Given the description of an element on the screen output the (x, y) to click on. 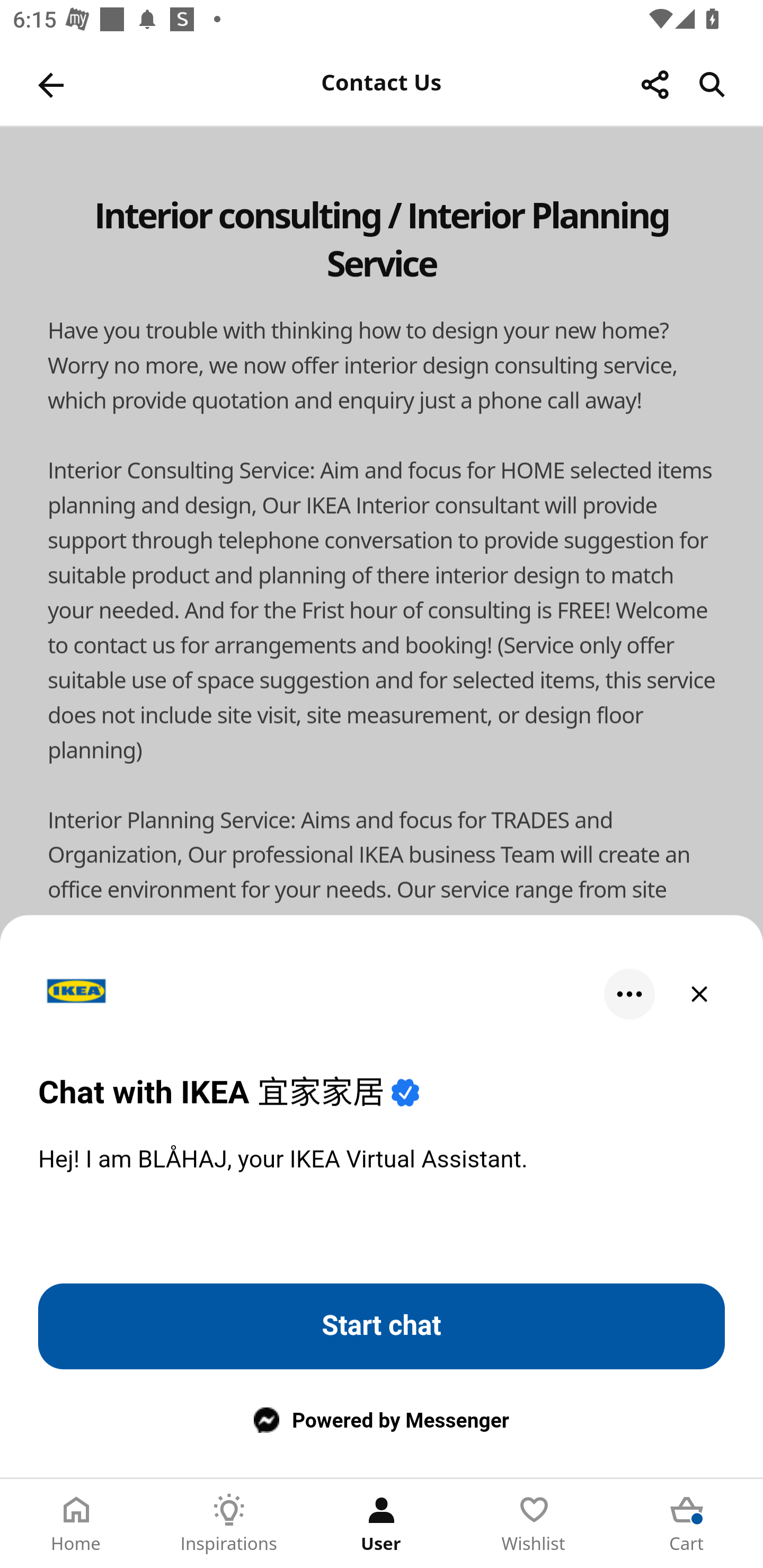
Home
Tab 1 of 5 (76, 1522)
Inspirations
Tab 2 of 5 (228, 1522)
User
Tab 3 of 5 (381, 1522)
Wishlist
Tab 4 of 5 (533, 1522)
Cart
Tab 5 of 5 (686, 1522)
